Given the description of an element on the screen output the (x, y) to click on. 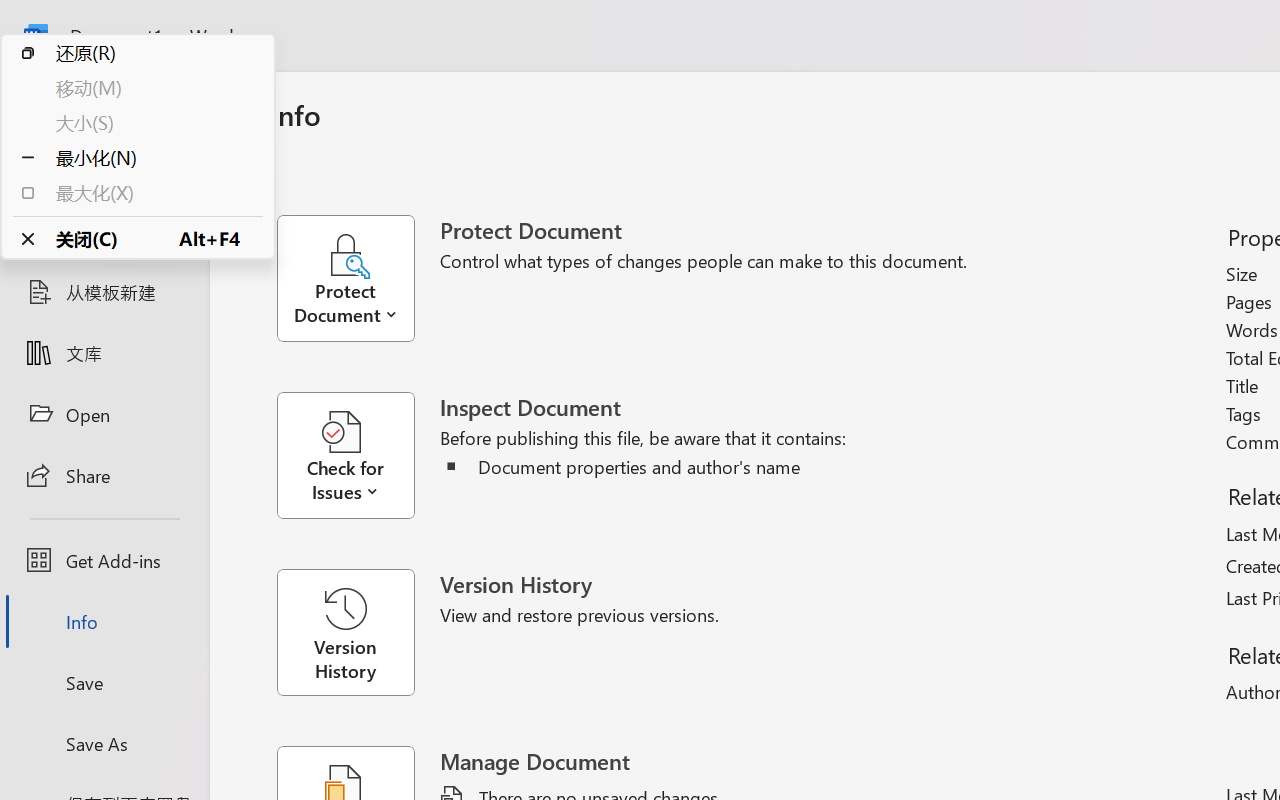
Version History (345, 632)
Get Add-ins (104, 560)
